Given the description of an element on the screen output the (x, y) to click on. 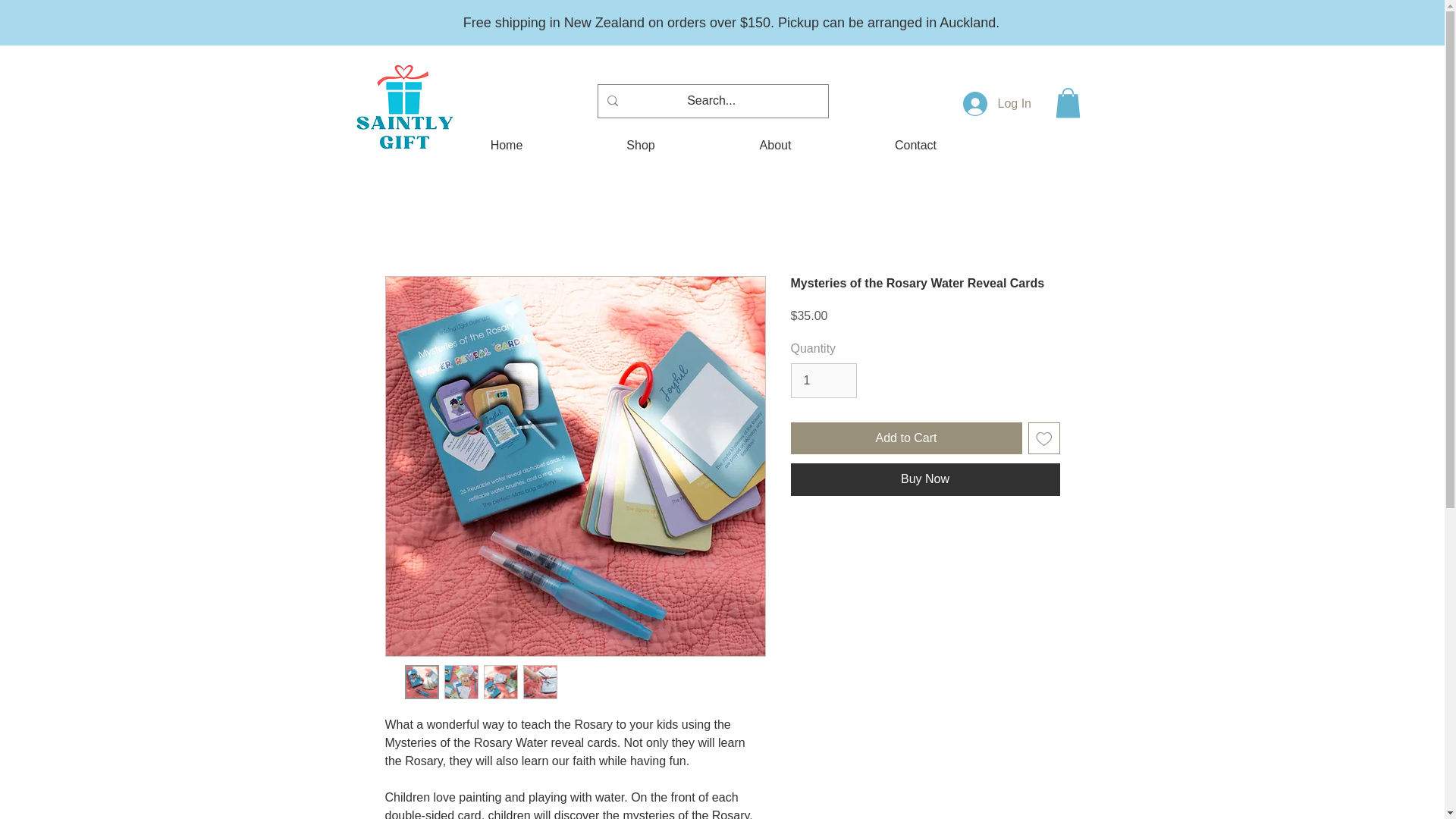
Shop (641, 144)
1 (823, 380)
Contact (915, 144)
Saintly gift logo (403, 109)
Home (505, 144)
Add to Cart (906, 438)
Buy Now (924, 479)
Log In (983, 103)
About (774, 144)
